Given the description of an element on the screen output the (x, y) to click on. 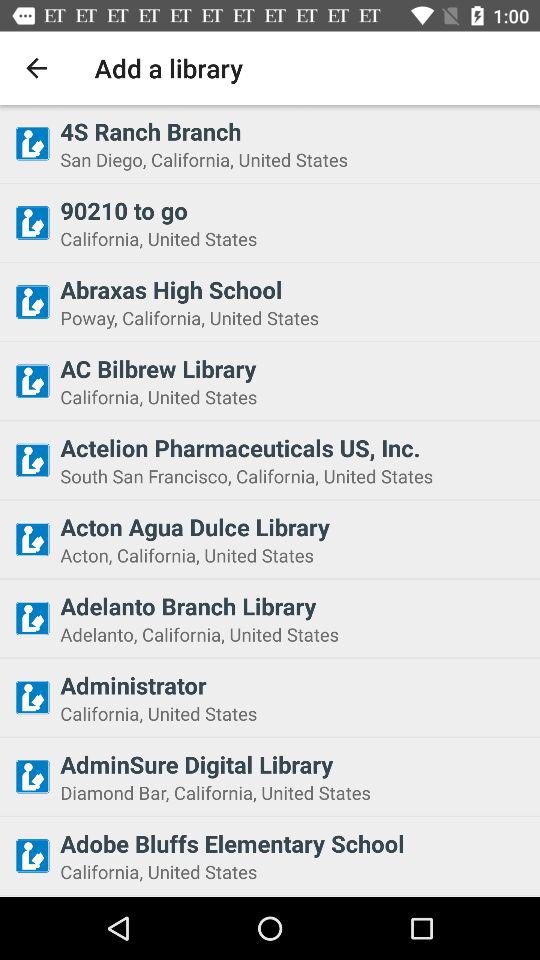
jump until adelanto branch library item (294, 606)
